Given the description of an element on the screen output the (x, y) to click on. 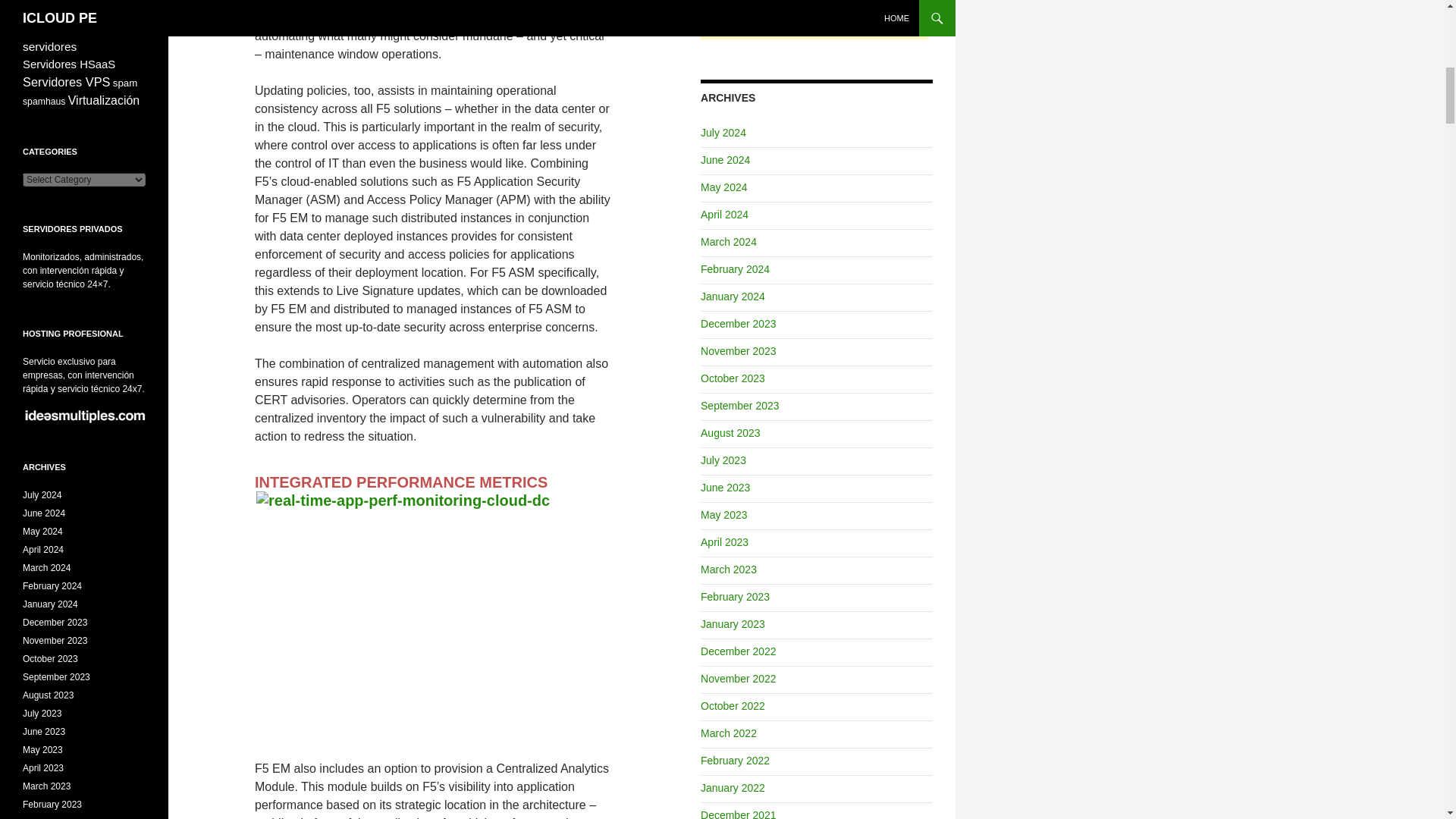
real-time-app-perf-monitoring-cloud-dc (435, 625)
